Given the description of an element on the screen output the (x, y) to click on. 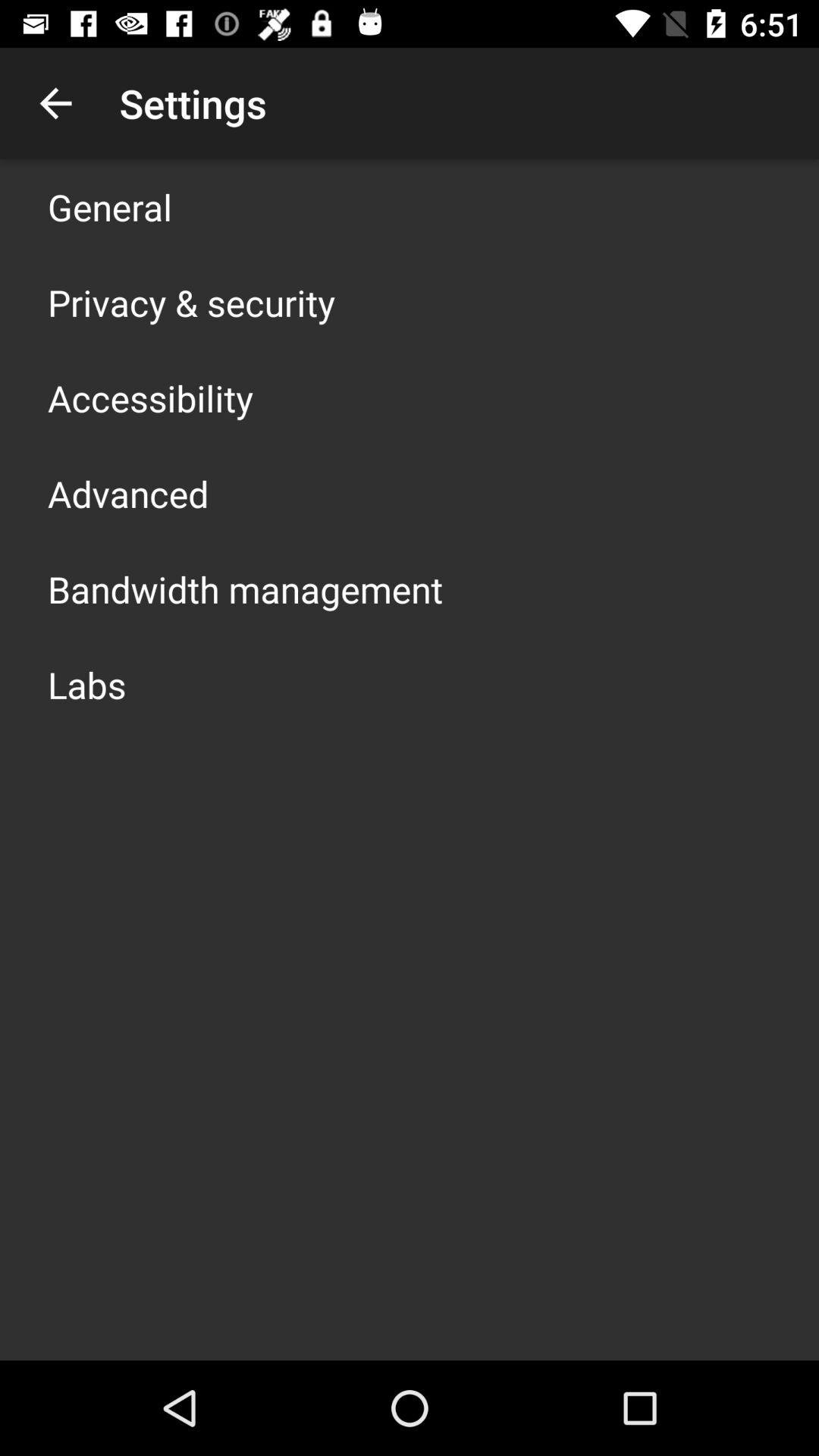
jump until the accessibility app (150, 397)
